Given the description of an element on the screen output the (x, y) to click on. 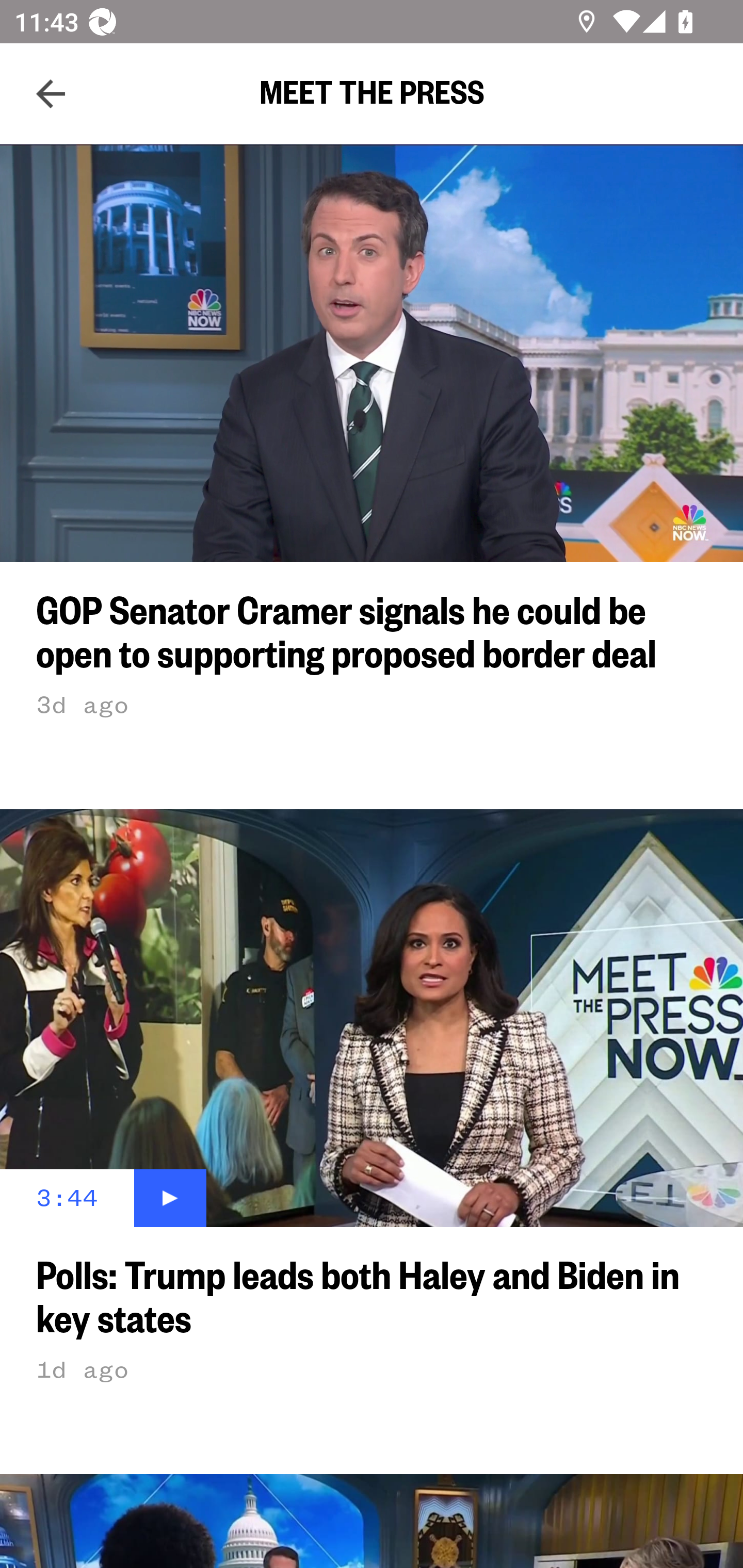
Navigate up (50, 93)
